Given the description of an element on the screen output the (x, y) to click on. 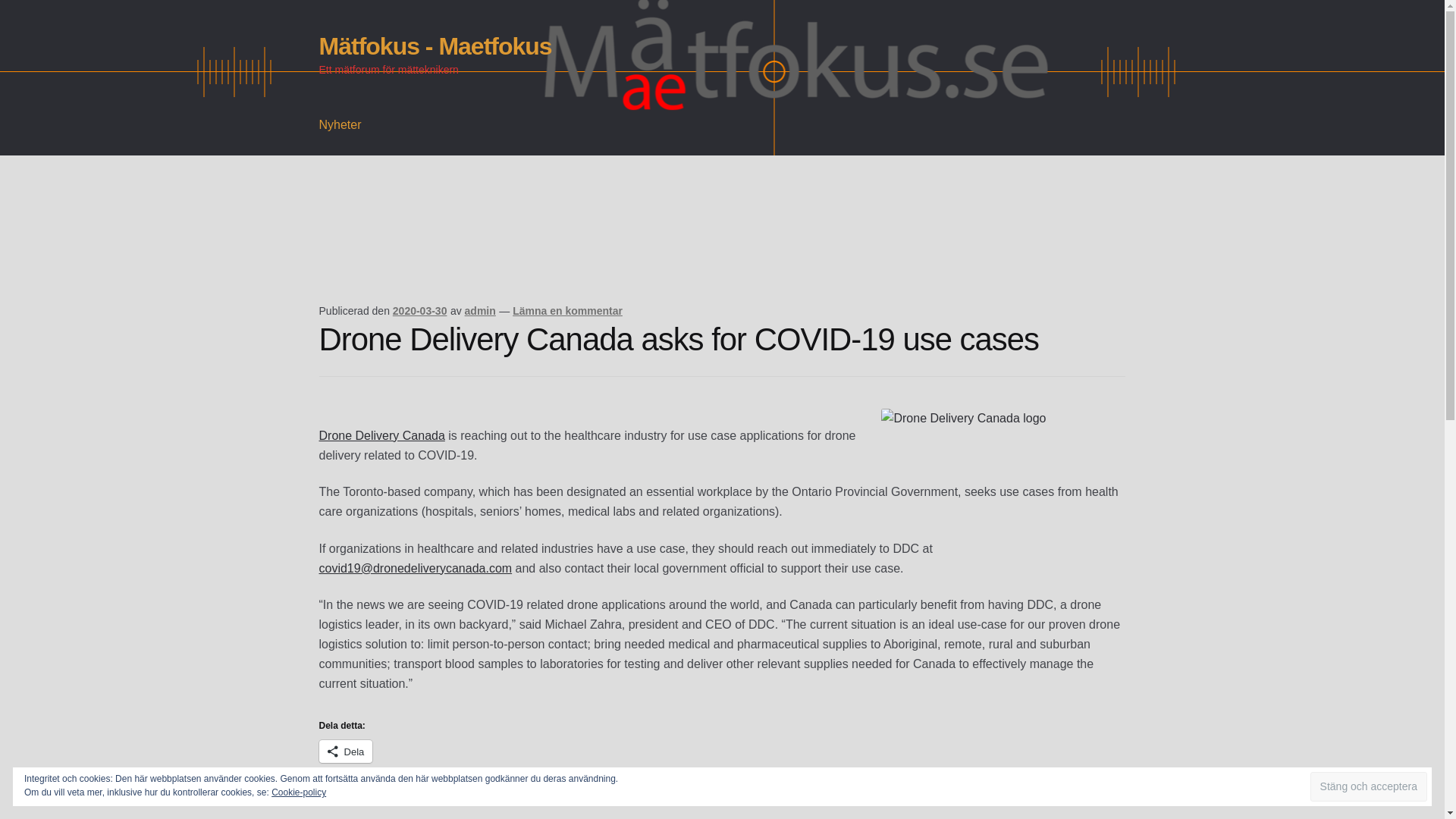
Cookie-policy (298, 792)
2020-03-30 (419, 310)
admin (480, 310)
Dela (345, 751)
Drone Delivery Canada (381, 435)
Nyheter (340, 124)
